Given the description of an element on the screen output the (x, y) to click on. 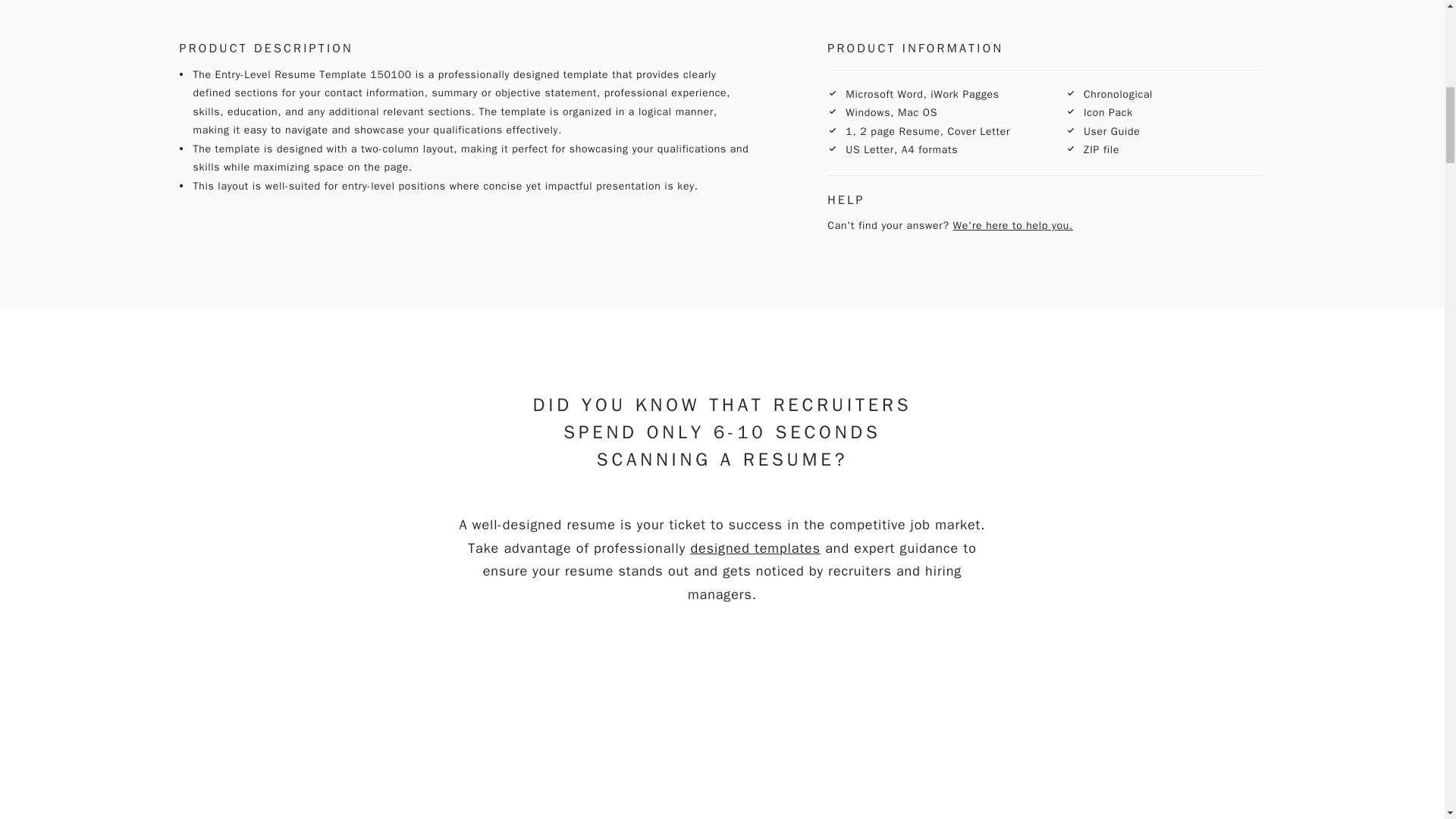
designed templates (755, 547)
We're here to help you. (1013, 225)
